Given the description of an element on the screen output the (x, y) to click on. 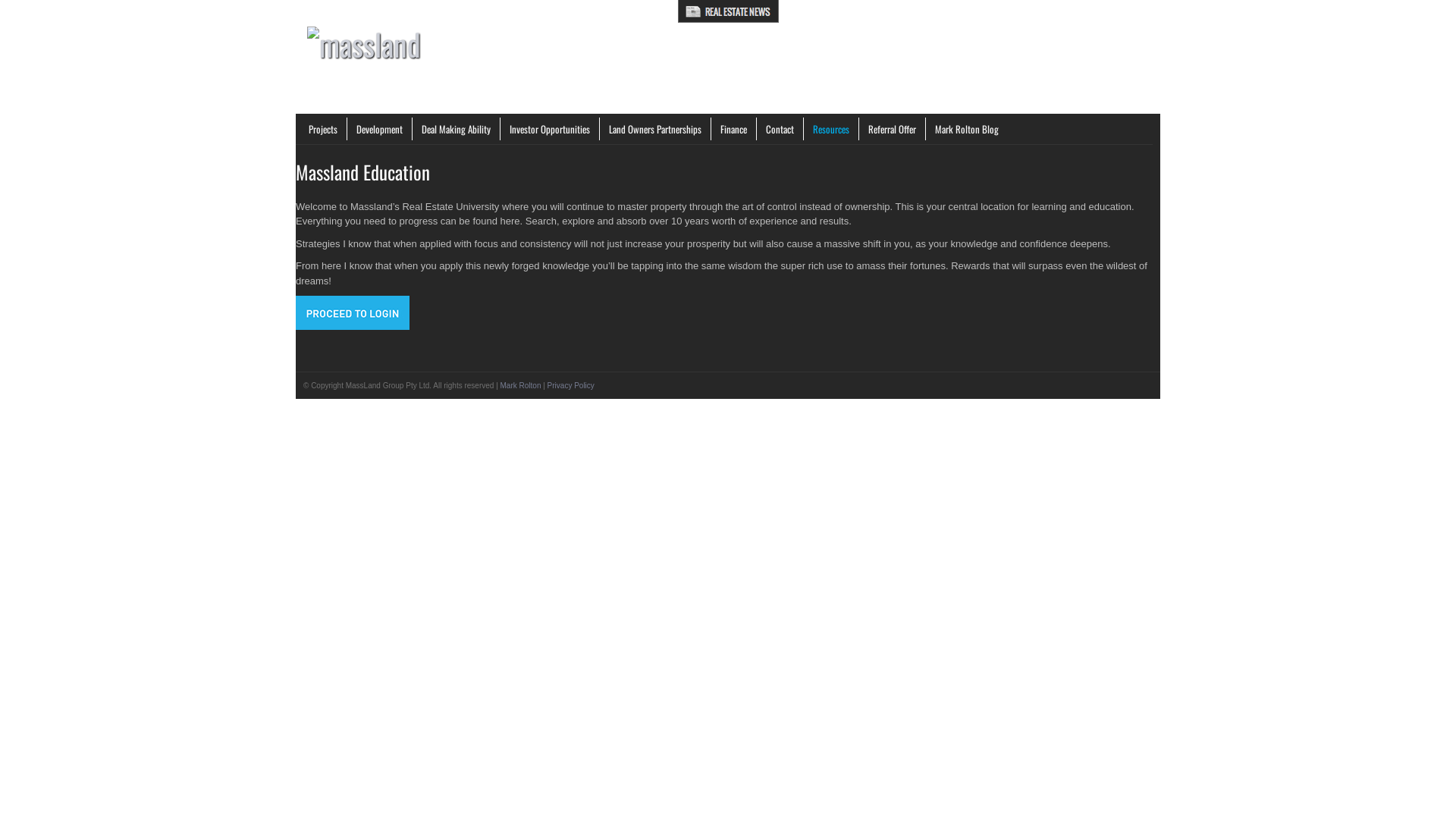
Mark Rolton Element type: text (520, 385)
Privacy Policy Element type: text (570, 385)
Resources Element type: text (831, 128)
Development Element type: text (379, 128)
Land Owners Partnerships Element type: text (655, 128)
Investor Opportunities Element type: text (549, 128)
Contact Element type: text (779, 128)
Deal Making Ability Element type: text (456, 128)
Finance Element type: text (733, 128)
Referral Offer Element type: text (892, 128)
Mark Rolton Blog Element type: text (966, 128)
Projects Element type: text (323, 128)
